Given the description of an element on the screen output the (x, y) to click on. 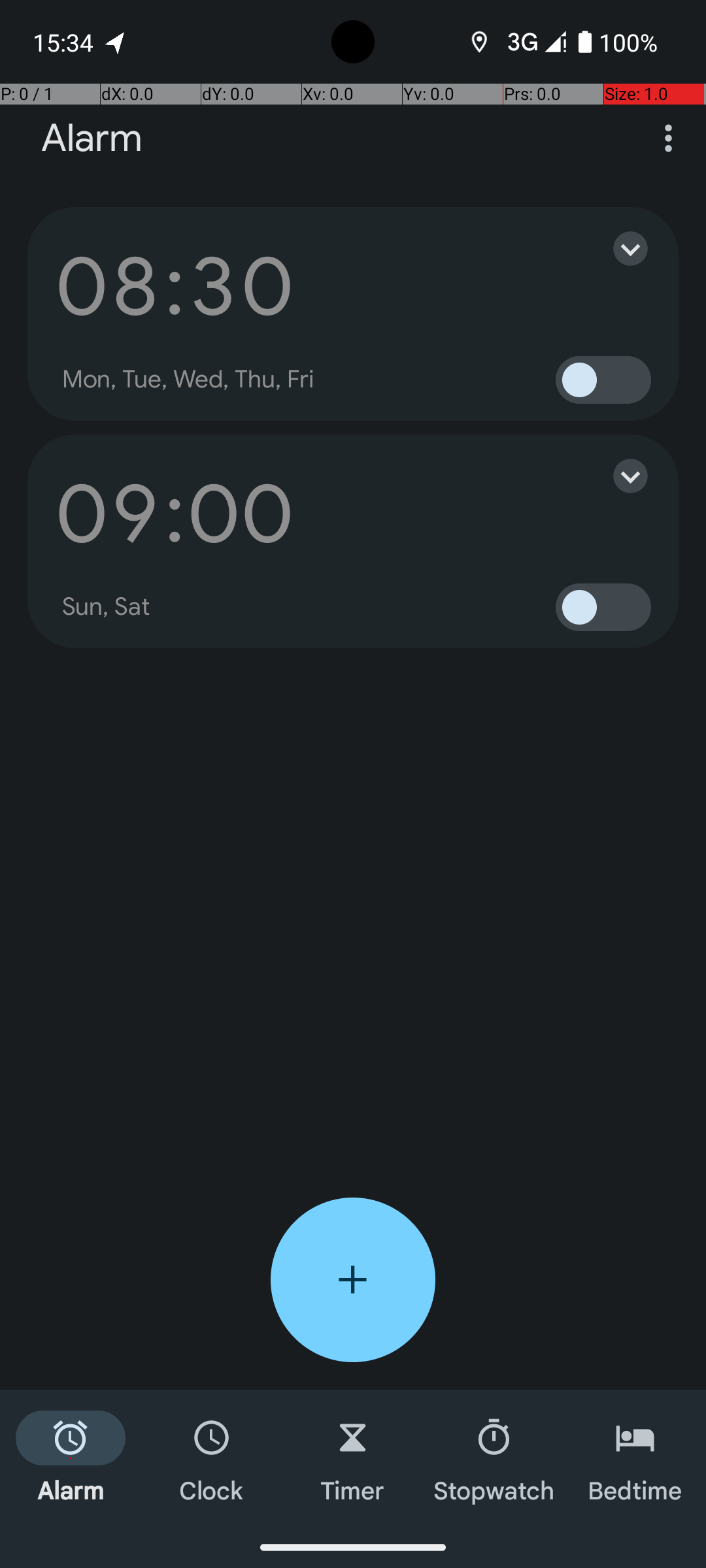
Add alarm Element type: android.widget.Button (352, 1279)
08:30 Element type: android.widget.TextView (174, 286)
Expand alarm Element type: android.widget.ImageButton (616, 248)
Mon, Tue, Wed, Thu, Fri Element type: android.widget.TextView (187, 379)
09:00 Element type: android.widget.TextView (174, 513)
Sun, Sat Element type: android.widget.TextView (106, 606)
OpenTracks notification: Distance: 0.00 ft Element type: android.widget.ImageView (115, 41)
